Given the description of an element on the screen output the (x, y) to click on. 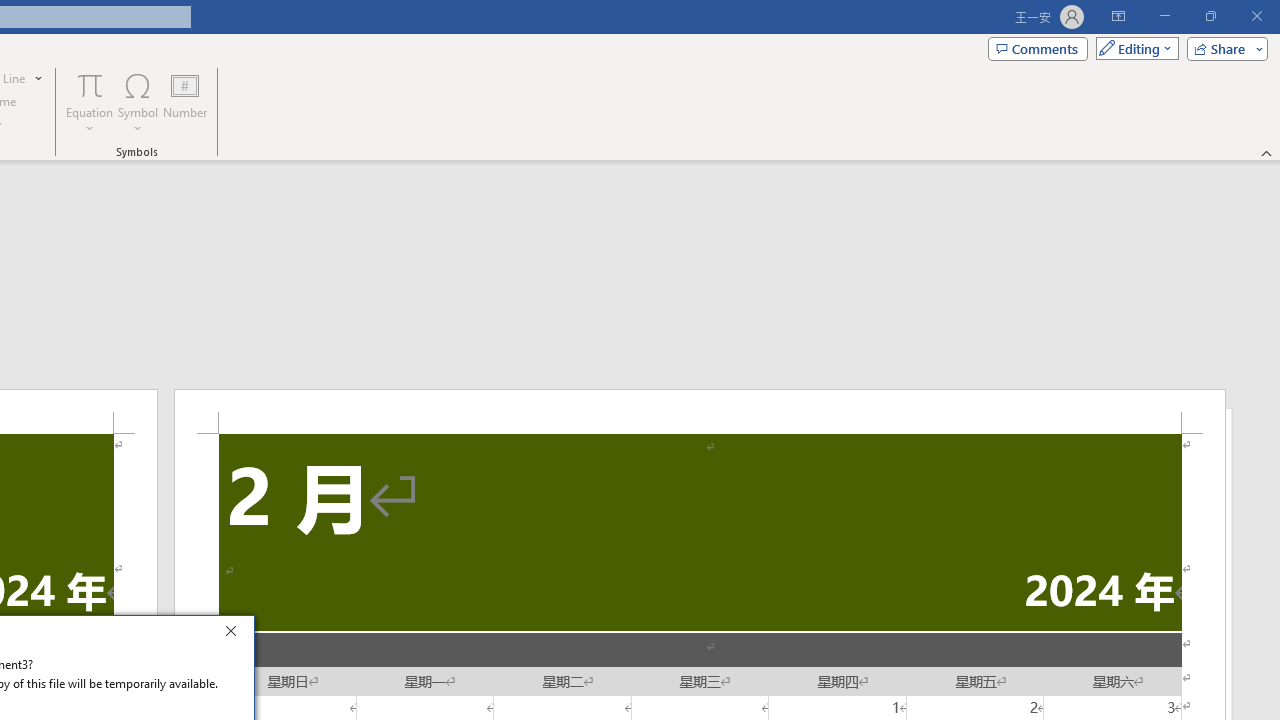
Equation (90, 84)
Number... (185, 102)
Mode (1133, 47)
Header -Section 2- (700, 411)
Symbol (138, 102)
Equation (90, 102)
